Given the description of an element on the screen output the (x, y) to click on. 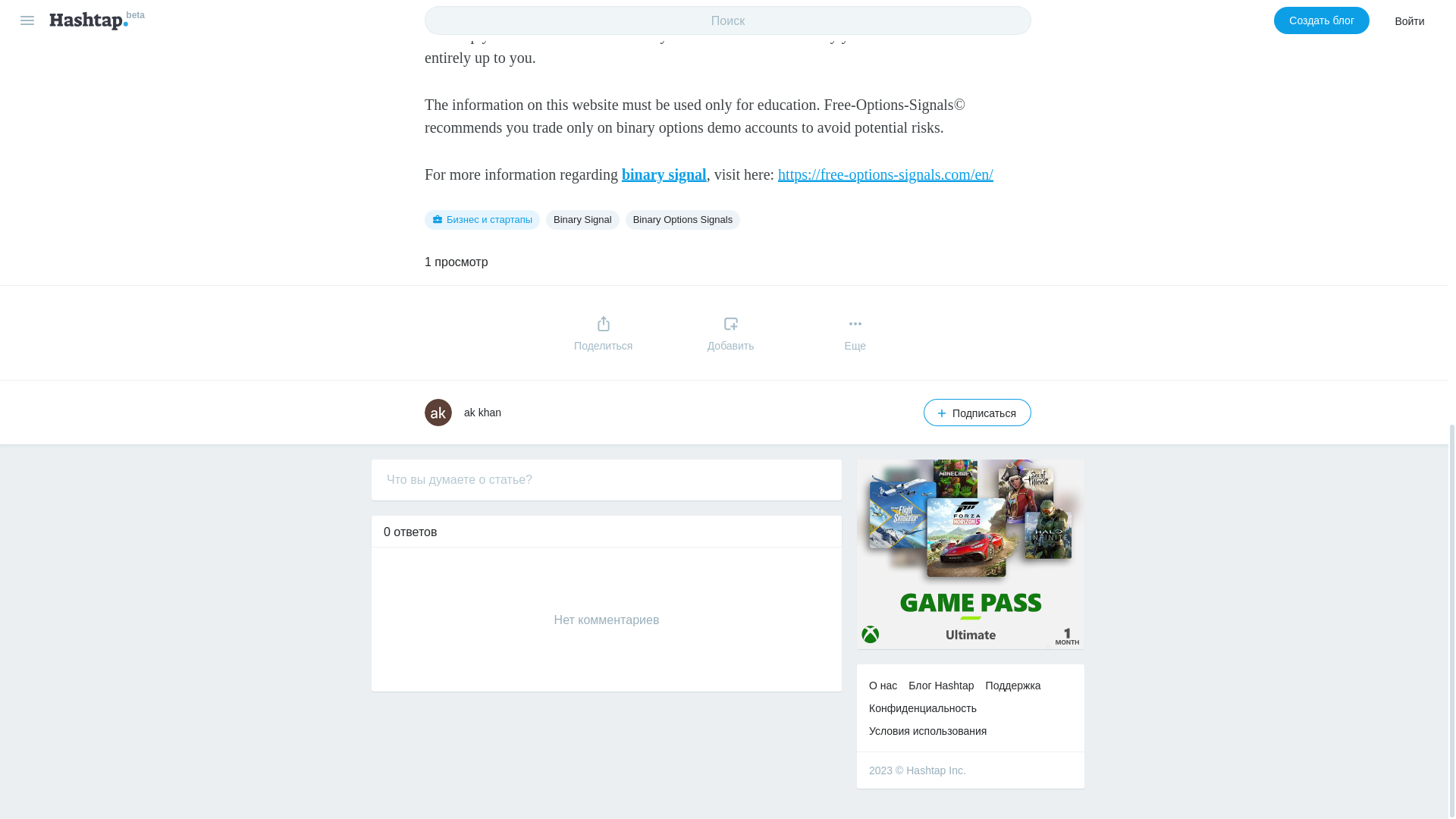
ak khan (482, 412)
Binary Options Signals (683, 219)
Binary Signal (583, 219)
binary signal (663, 174)
